Given the description of an element on the screen output the (x, y) to click on. 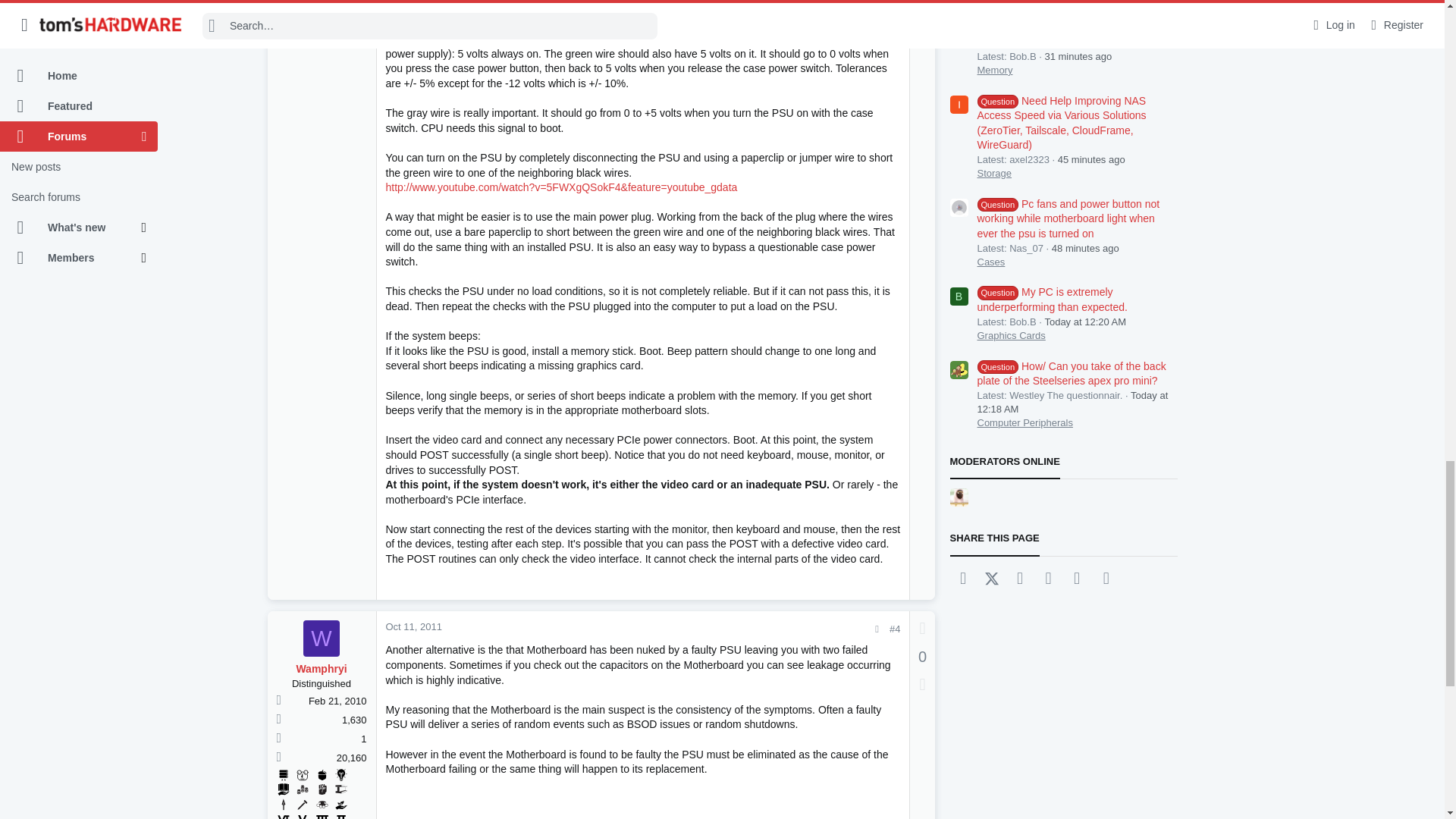
Oct 11, 2011 at 10:54 AM (413, 626)
